Given the description of an element on the screen output the (x, y) to click on. 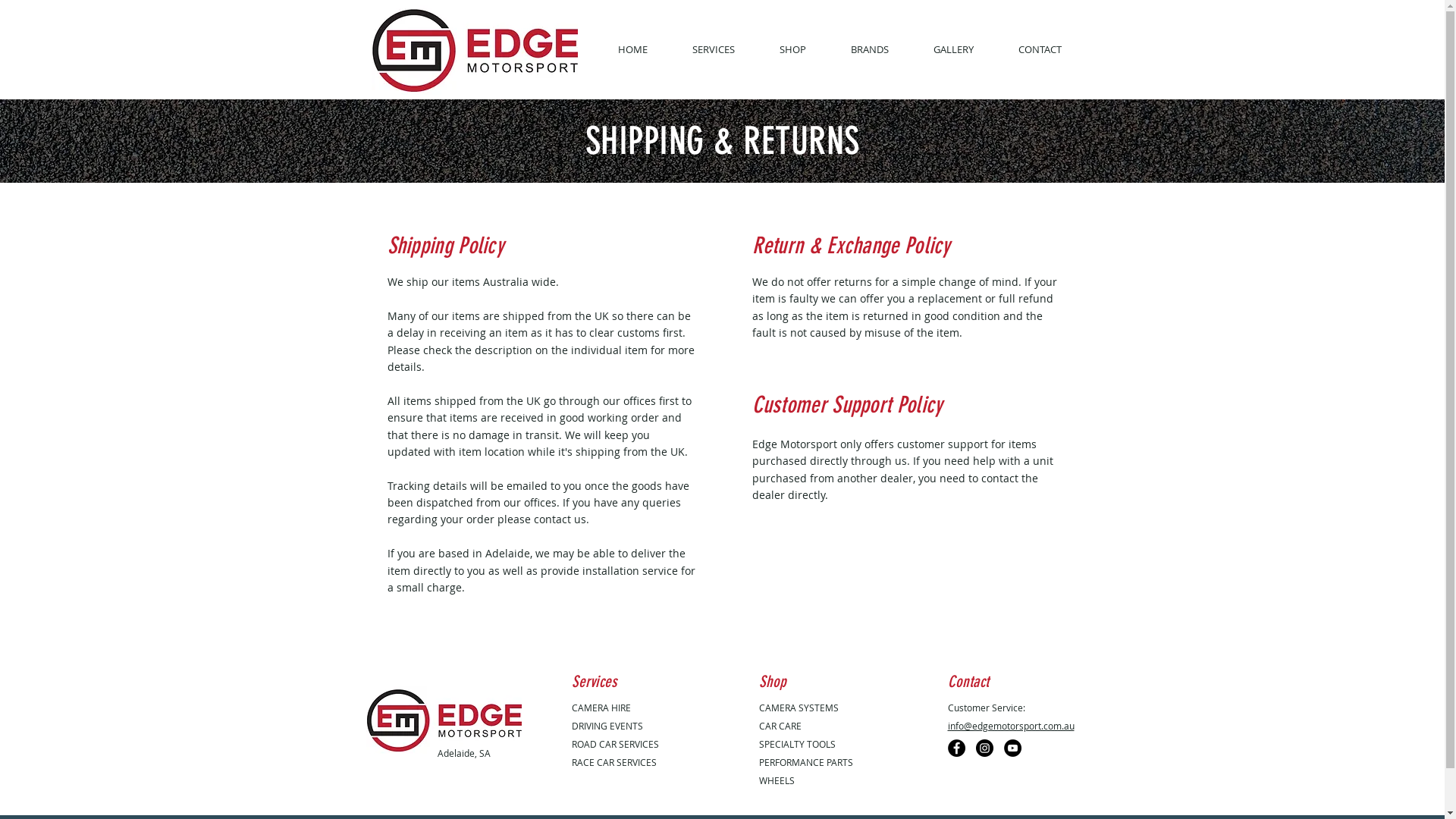
PERFORMANCE PARTS Element type: text (805, 762)
SPECIALTY TOOLS Element type: text (796, 743)
CAMERA HIRE Element type: text (600, 707)
GALLERY Element type: text (953, 49)
WHEELS Element type: text (775, 780)
DRIVING EVENTS Element type: text (607, 725)
SHOP Element type: text (792, 49)
CAR CARE Element type: text (779, 725)
HOME Element type: text (633, 49)
CONTACT Element type: text (1040, 49)
info@edgemotorsport.com.au Element type: text (1010, 725)
Edge Motorsport - owned by Dean Canto Element type: hover (474, 49)
RACE CAR SERVICES Element type: text (613, 762)
ROAD CAR SERVICES Element type: text (614, 743)
CAMERA SYSTEMS Element type: text (797, 707)
Stockist of Forgeline, VBOX, BigBoi, Bowden's Own Element type: hover (442, 719)
